Given the description of an element on the screen output the (x, y) to click on. 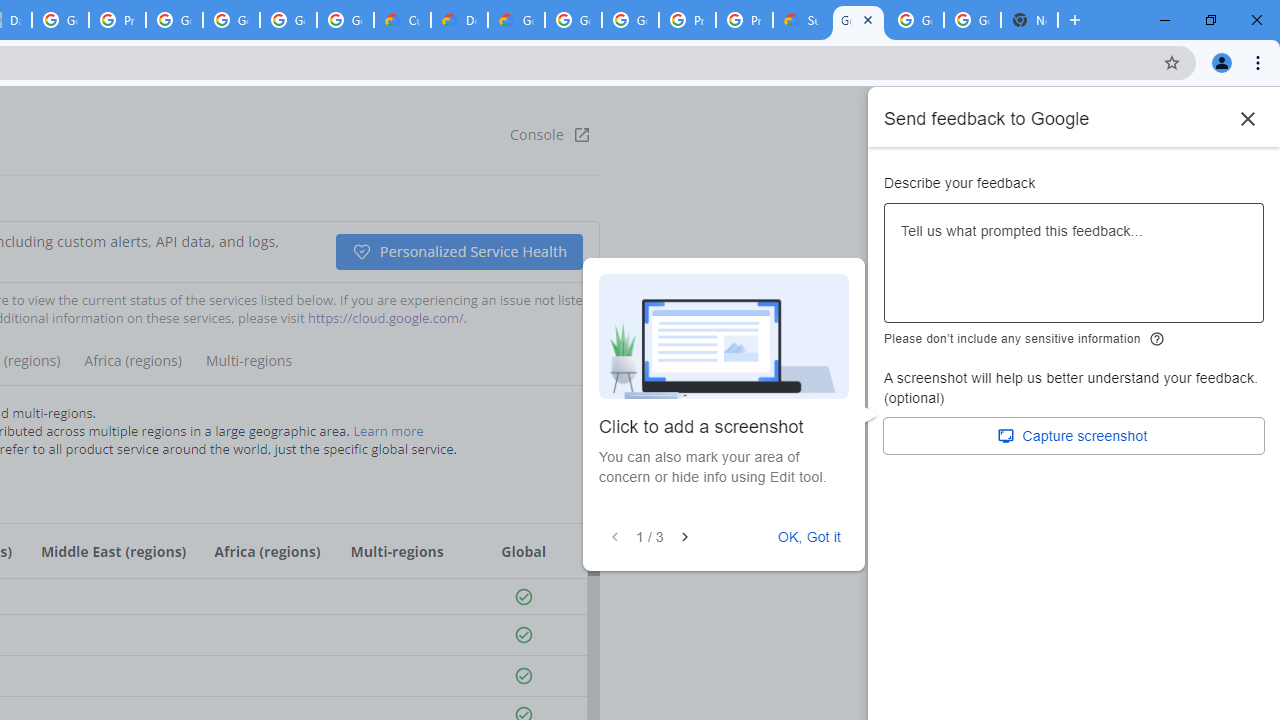
Available status (523, 676)
Gemini for Business and Developers | Google Cloud (516, 20)
Google Cloud Platform (971, 20)
Google Cloud Platform (915, 20)
Africa (regions) (132, 368)
Capture screenshot (1074, 436)
